Given the description of an element on the screen output the (x, y) to click on. 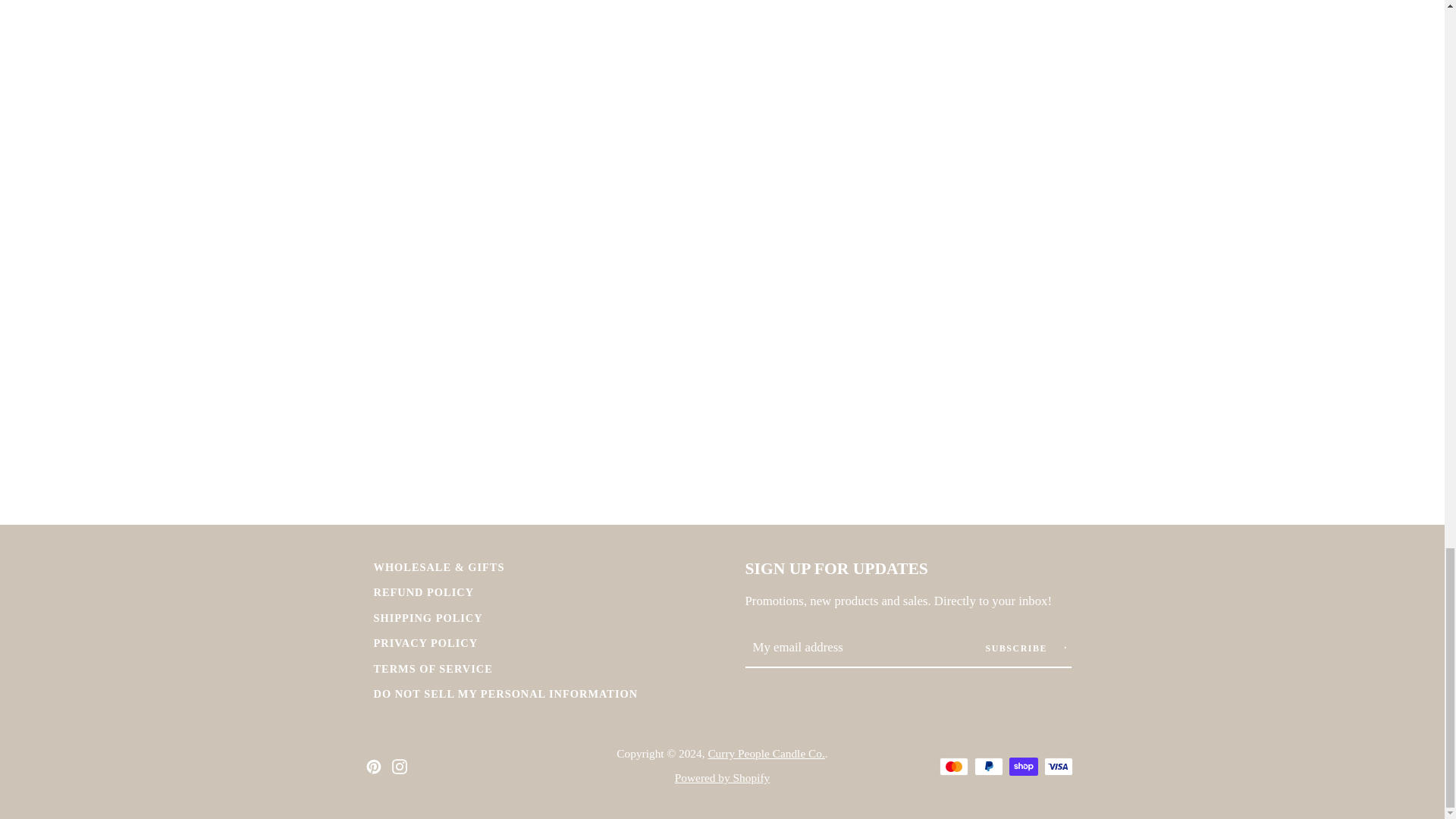
Curry People Candle Co. on Instagram (399, 764)
Mastercard (953, 766)
Curry People Candle Co. on Pinterest (372, 764)
PayPal (988, 766)
Visa (1057, 766)
Shop Pay (1022, 766)
